Given the description of an element on the screen output the (x, y) to click on. 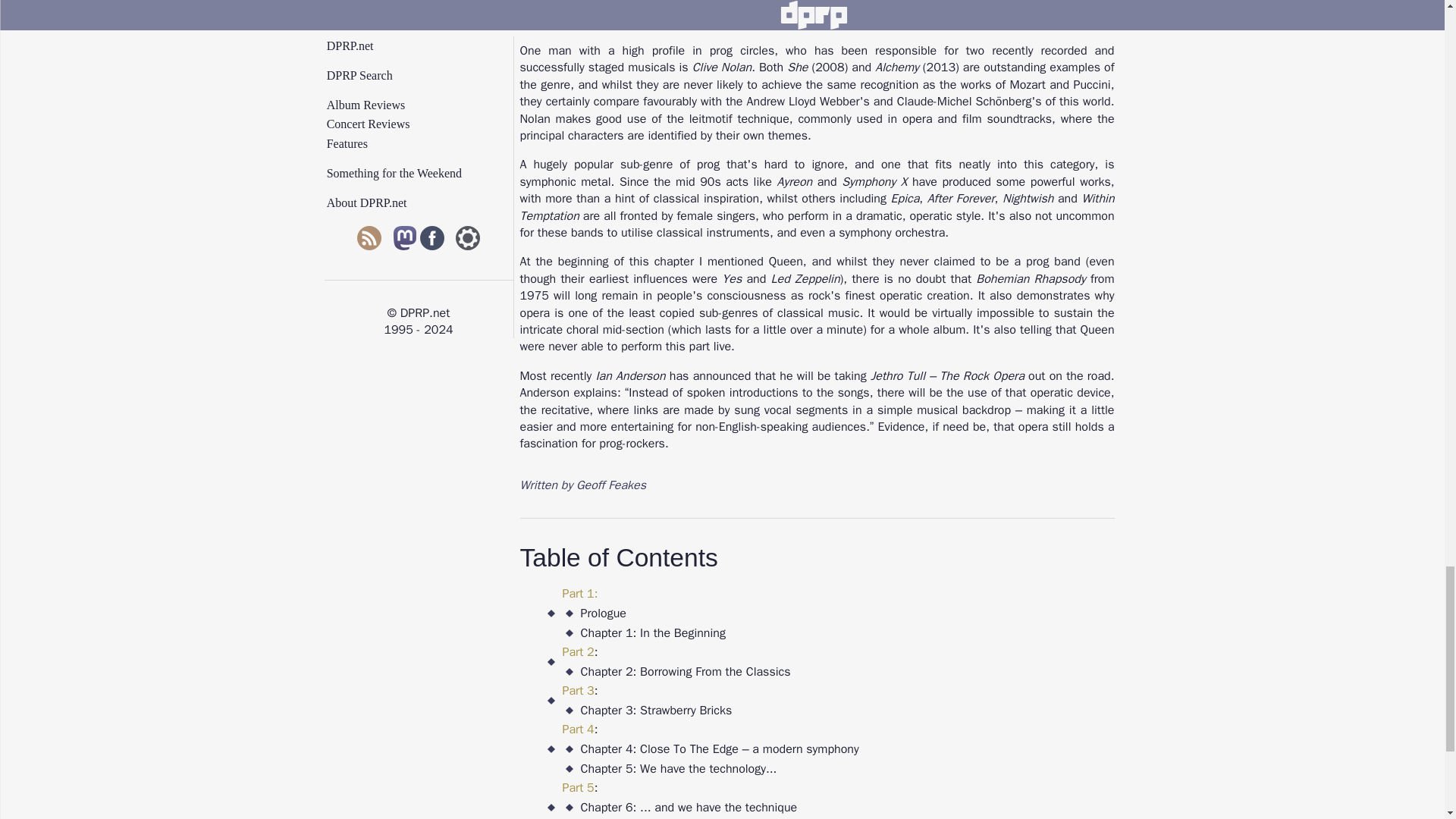
Part 5 (578, 787)
Part 3 (578, 690)
Part 4 (578, 729)
Part 2 (578, 652)
Part 1: (580, 593)
